Given the description of an element on the screen output the (x, y) to click on. 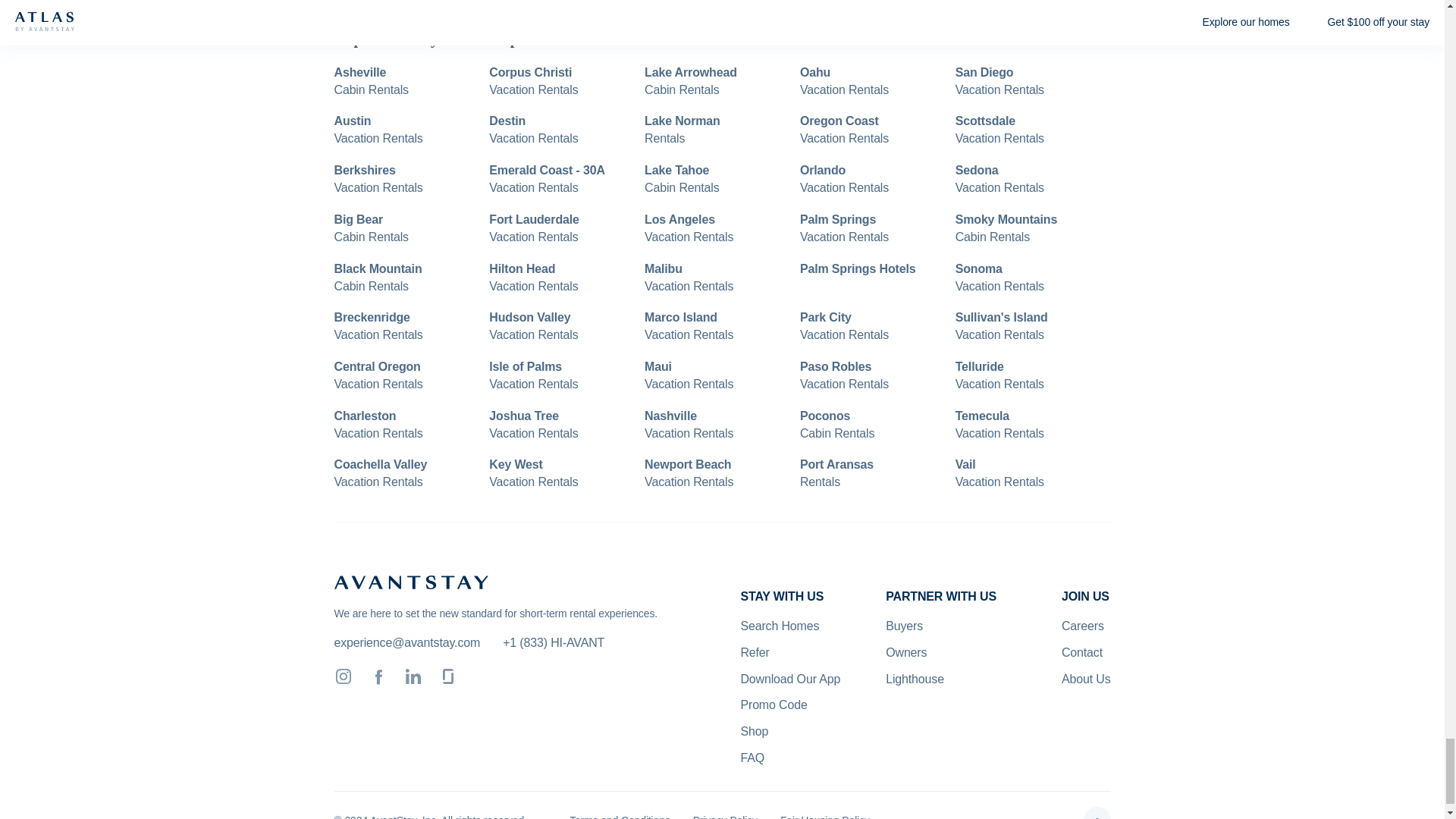
Glassdoor (447, 676)
LinkedIn (412, 676)
Facebook (377, 676)
Instagram (342, 676)
AVANTSTAY (410, 581)
